Given the description of an element on the screen output the (x, y) to click on. 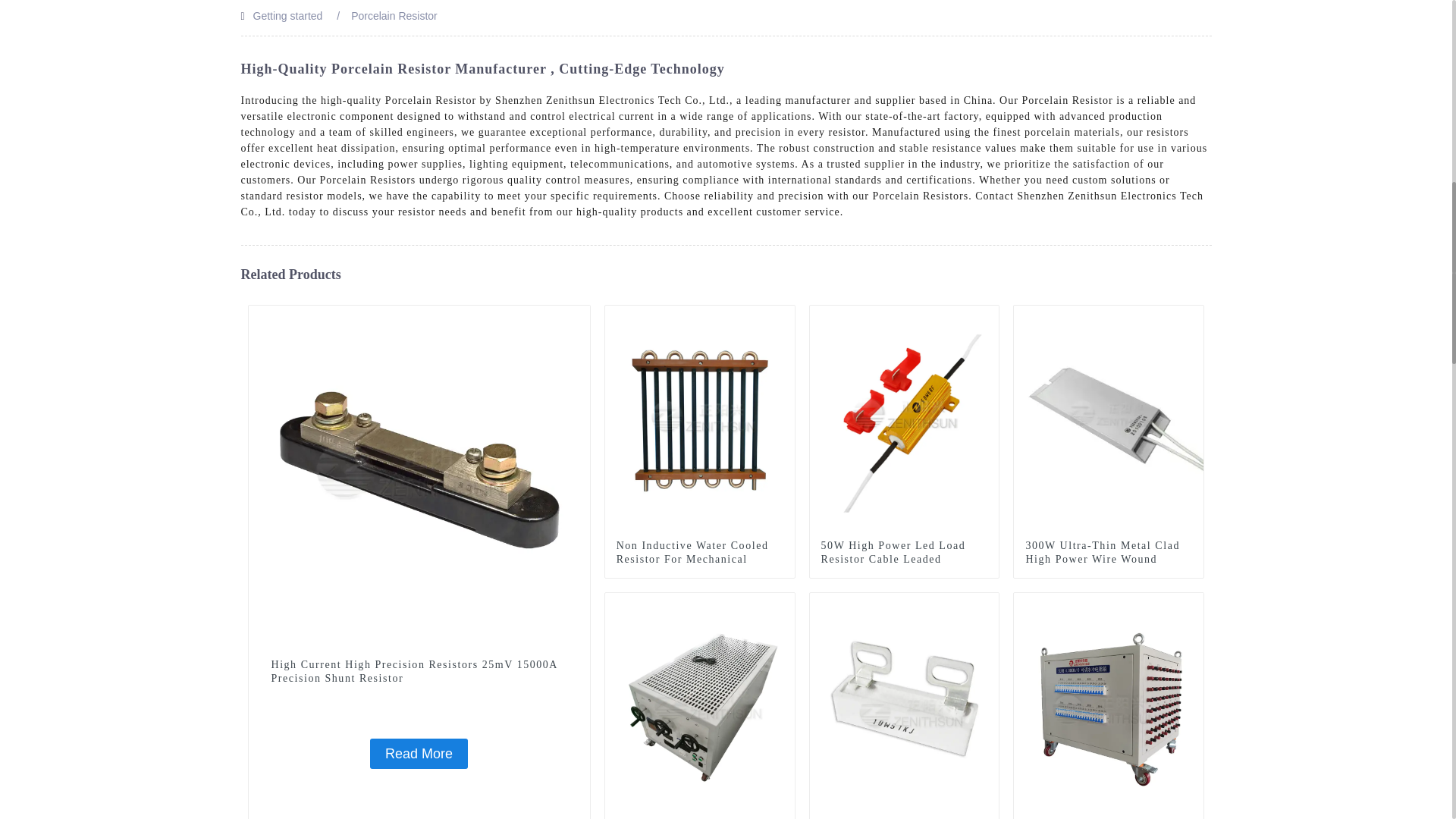
3 (1192, 316)
Water Cooled Resistors-20 (782, 316)
AC shunt resistor 60mV 100A (578, 316)
300W Ultra-Thin Metal Clad High Power Wire Wound Resistor (1108, 419)
RH 50W-12 (986, 316)
300W Ultra-Thin Metal Clad High Power Wire Wound Resistor (1108, 558)
